Given the description of an element on the screen output the (x, y) to click on. 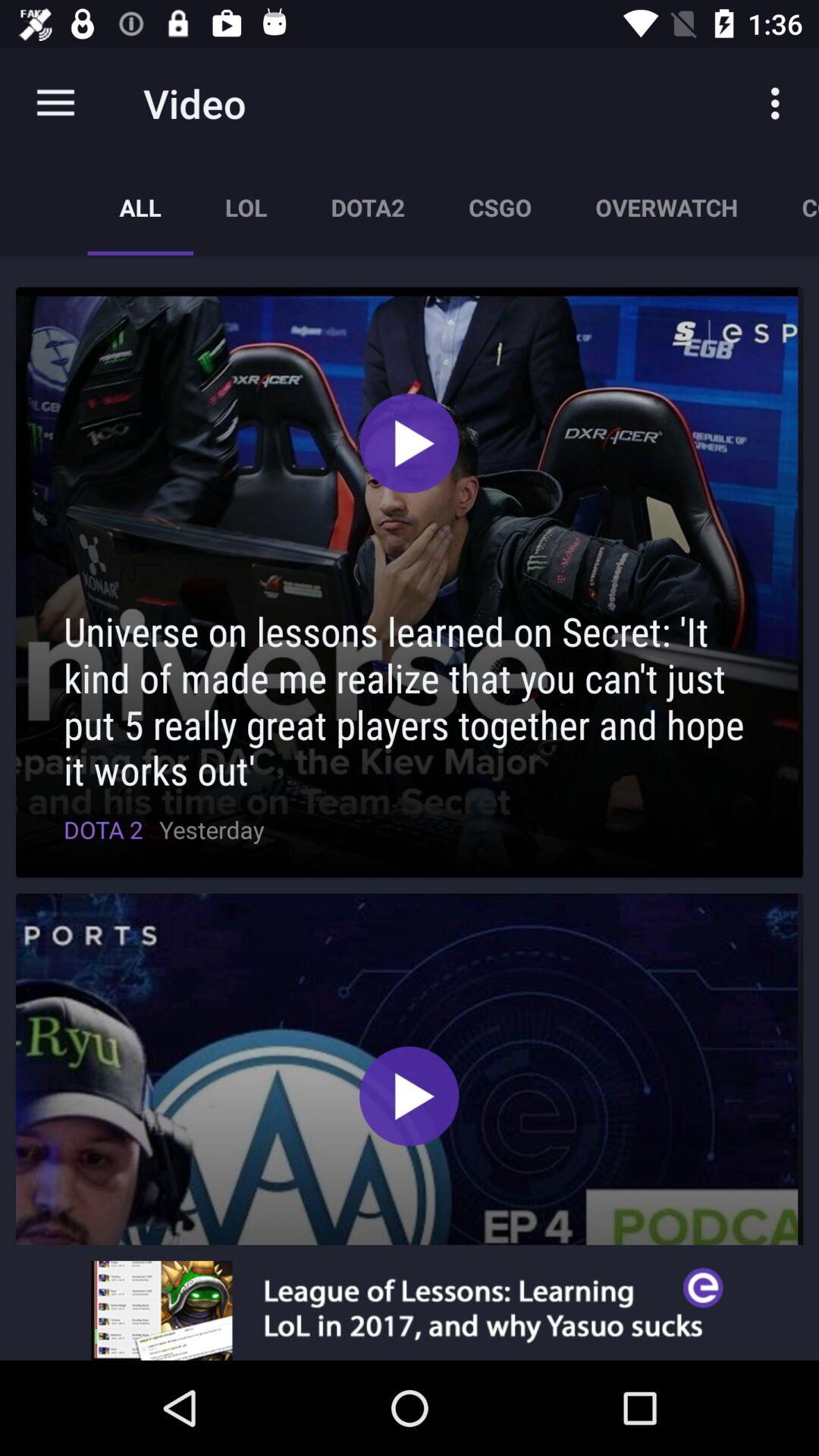
click on more settings (779, 103)
